Given the description of an element on the screen output the (x, y) to click on. 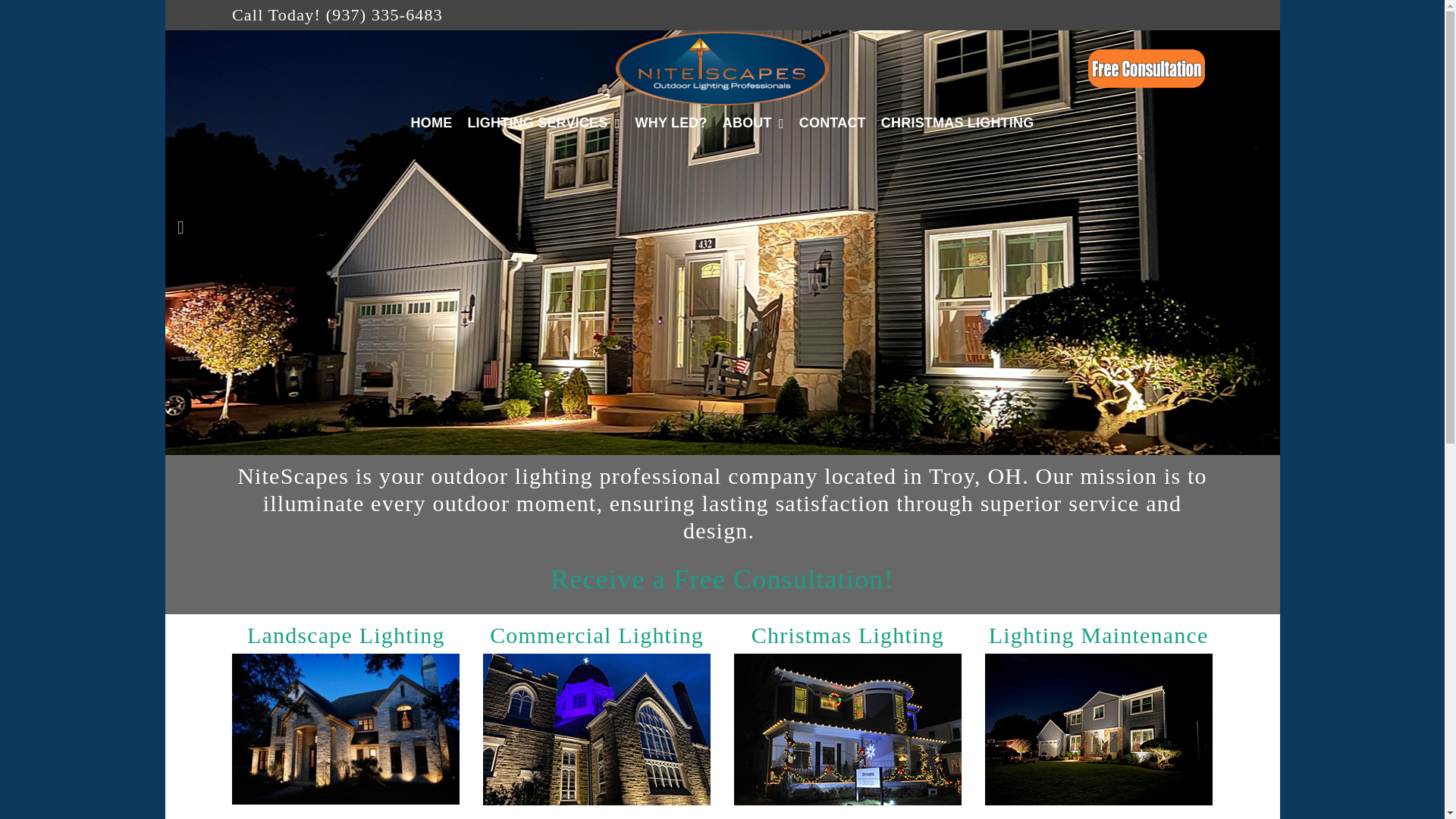
LIGHTING SERVICES (543, 122)
ABOUT (753, 122)
HOME (431, 122)
Commercial Lighting (596, 634)
2 (721, 447)
Lighting Maintenance (1098, 634)
CHRISTMAS LIGHTING (957, 122)
1 (703, 447)
Christmas Lighting (847, 634)
3 (740, 447)
